Given the description of an element on the screen output the (x, y) to click on. 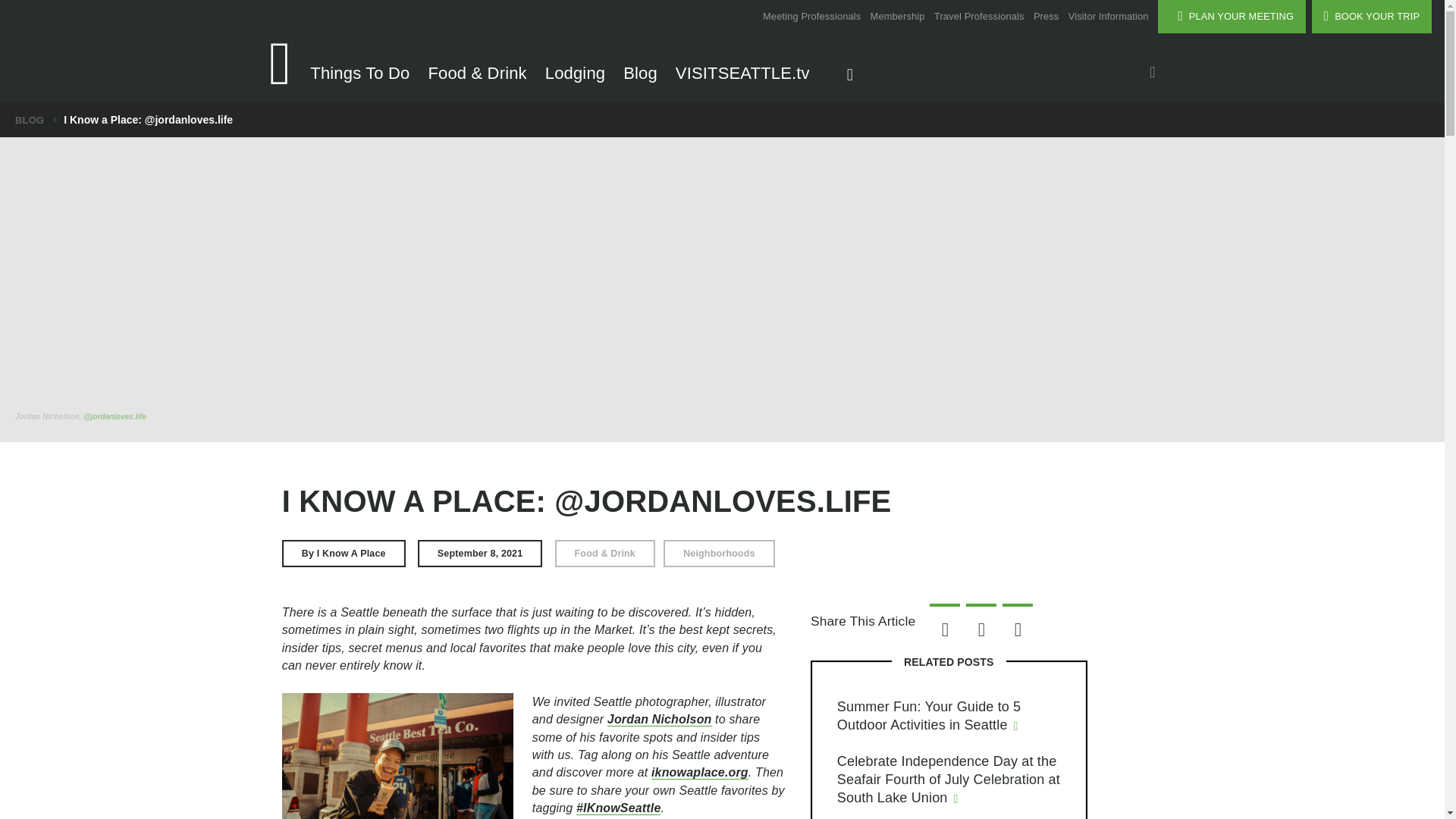
Travel Professionals (979, 12)
Meeting Professionals (811, 12)
Things To Do (359, 76)
Press (1046, 12)
VISITSEATTLE.tv (742, 76)
Lodging (574, 76)
Visitor Information (1108, 12)
PLAN YOUR MEETING (1231, 16)
BOOK YOUR TRIP (1371, 16)
Toggle social media icons (1152, 72)
Membership (897, 12)
